Given the description of an element on the screen output the (x, y) to click on. 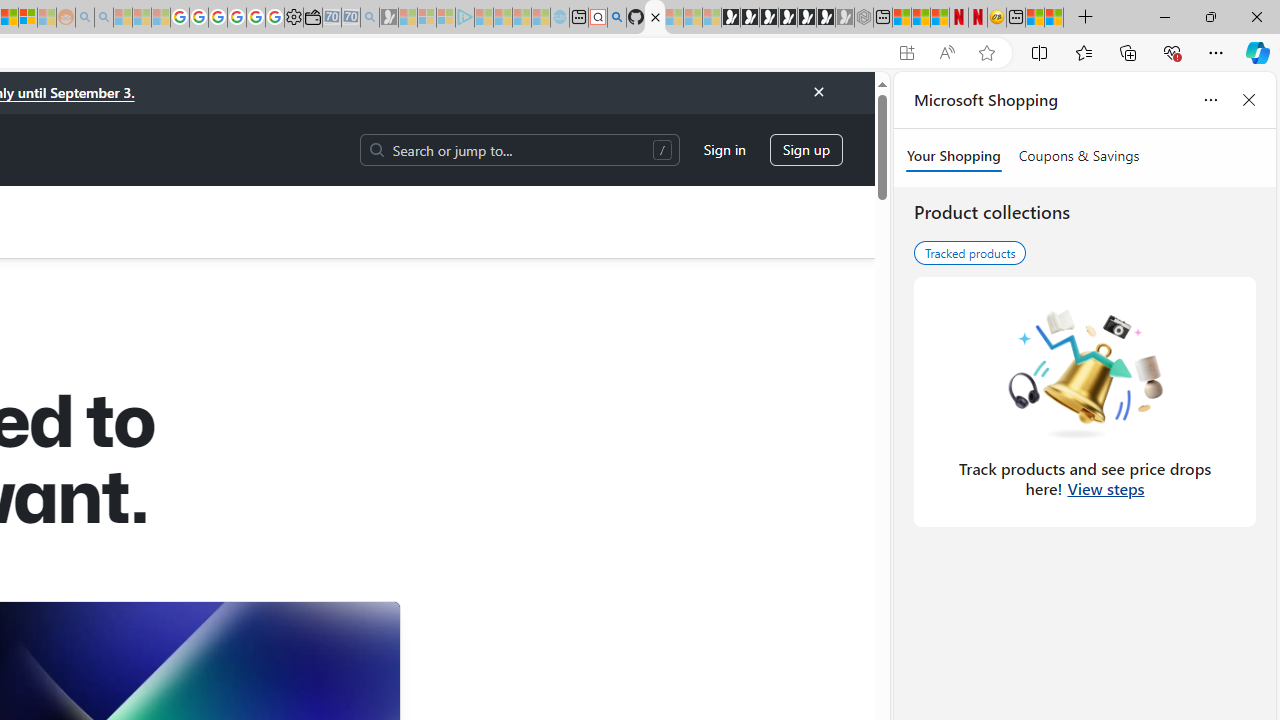
Wildlife - MSN (1035, 17)
App available. Install GitHub (906, 53)
